Given the description of an element on the screen output the (x, y) to click on. 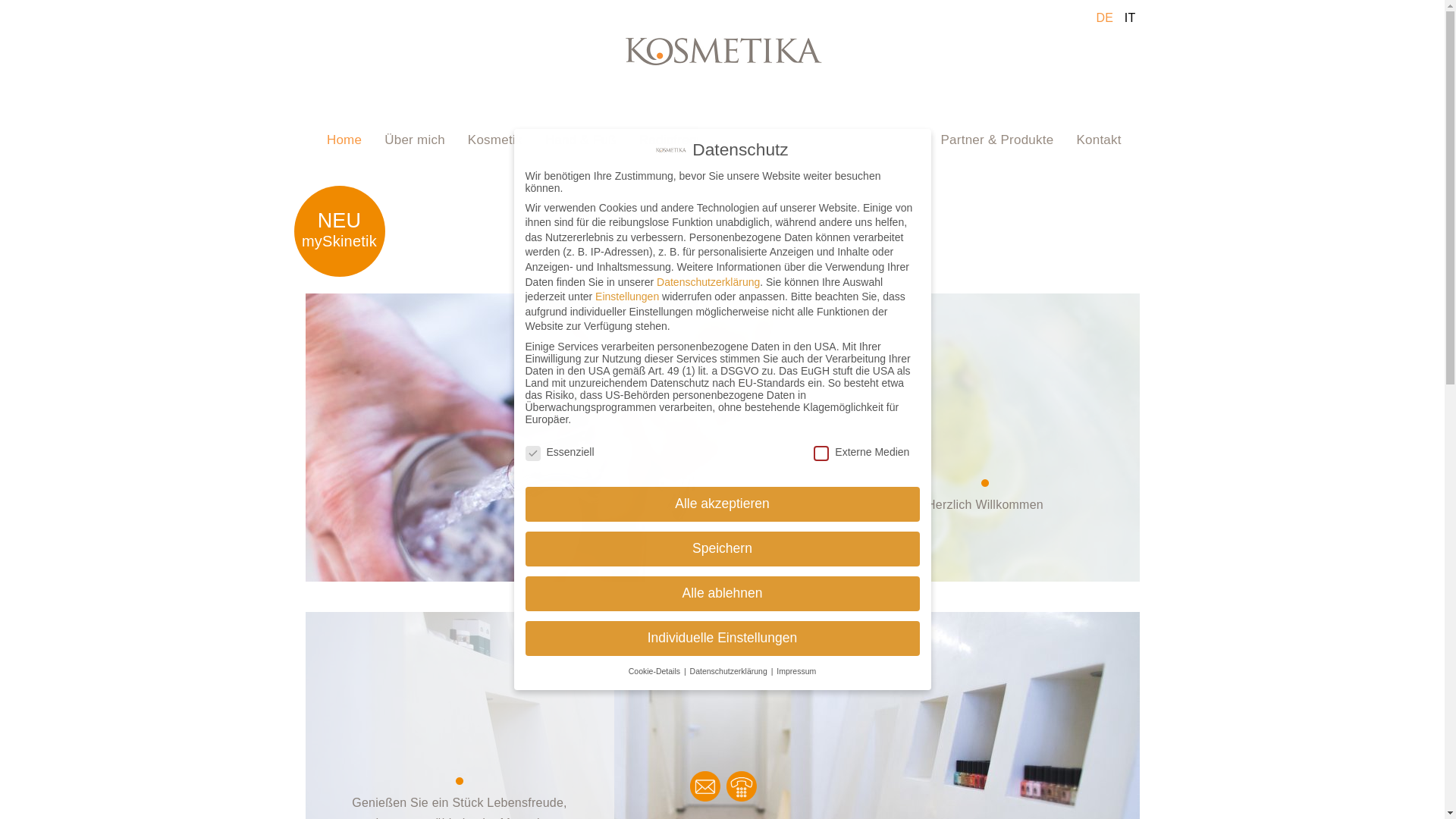
Radiofrequenz Element type: text (682, 140)
Laser Epilation Element type: text (873, 140)
Individuelle Einstellungen Element type: text (721, 638)
Kosmetik Element type: text (494, 140)
Alle akzeptieren Element type: text (721, 503)
Depilation Element type: text (777, 140)
Einstellungen Element type: text (626, 296)
Home Element type: text (344, 140)
IT Element type: text (1129, 17)
NEU
mySkinetik Element type: text (339, 230)
Alle ablehnen Element type: text (721, 593)
Partner & Produkte Element type: text (997, 140)
Speichern Element type: text (721, 548)
Impressum Element type: text (795, 670)
Cookie-Details Element type: text (655, 670)
Kontakt Element type: text (1098, 140)
DE Element type: text (1104, 17)
